Given the description of an element on the screen output the (x, y) to click on. 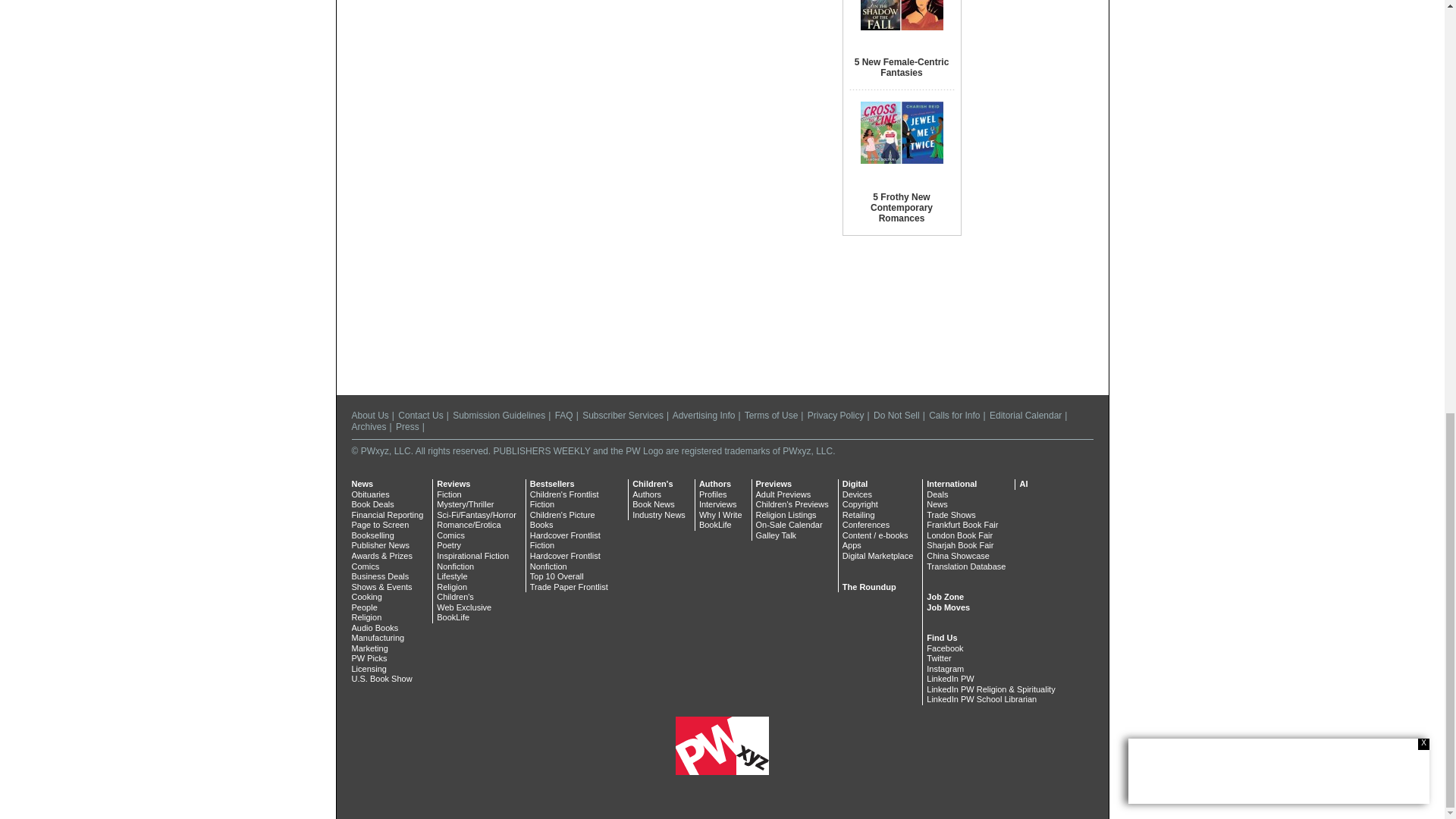
3rd party ad content (721, 346)
3rd party ad content (1035, 43)
5 New Female-Centric Fantasies (901, 66)
5 Frothy New Contemporary Romances (901, 207)
